Given the description of an element on the screen output the (x, y) to click on. 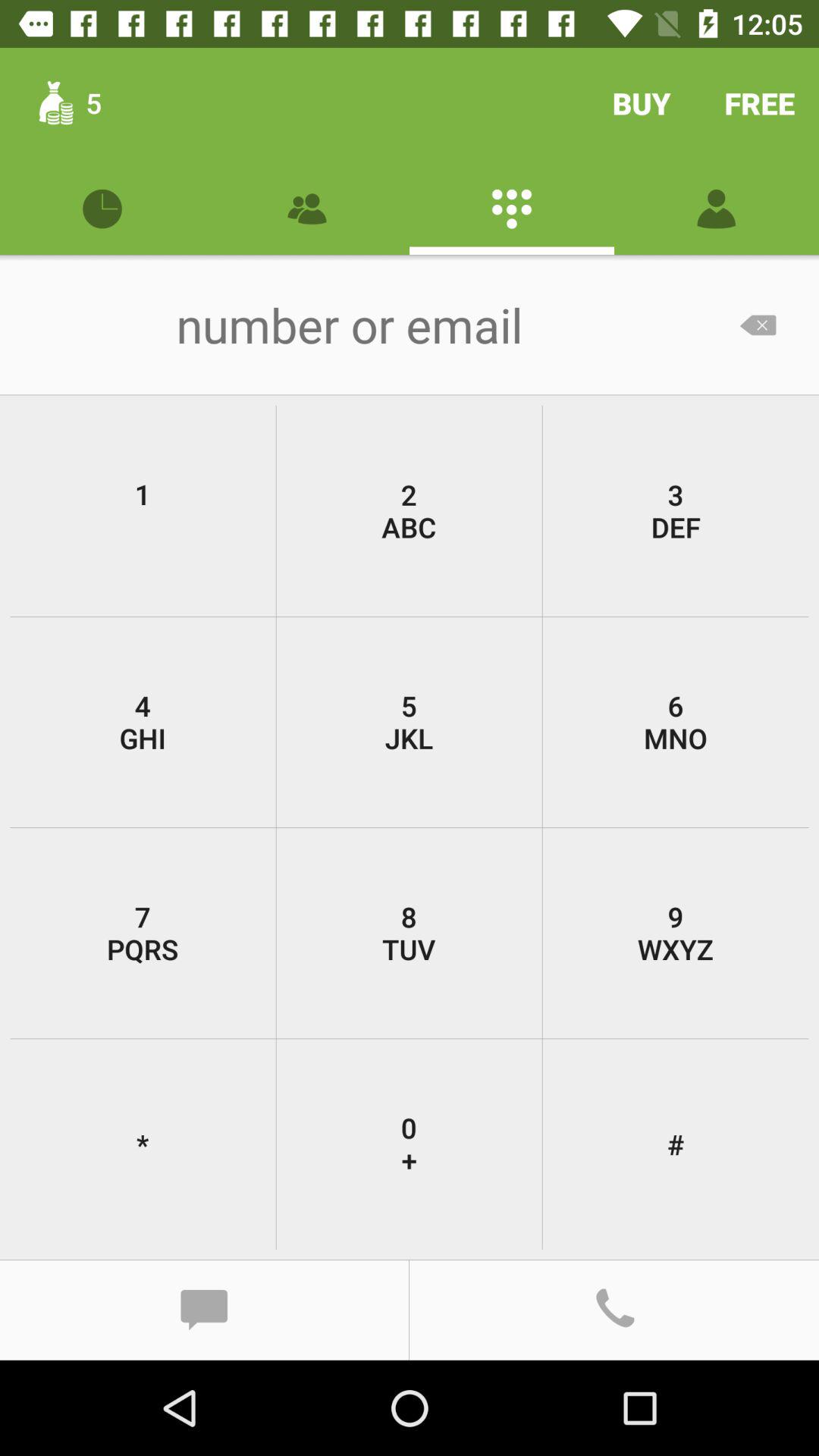
jump to 1
 icon (142, 510)
